Given the description of an element on the screen output the (x, y) to click on. 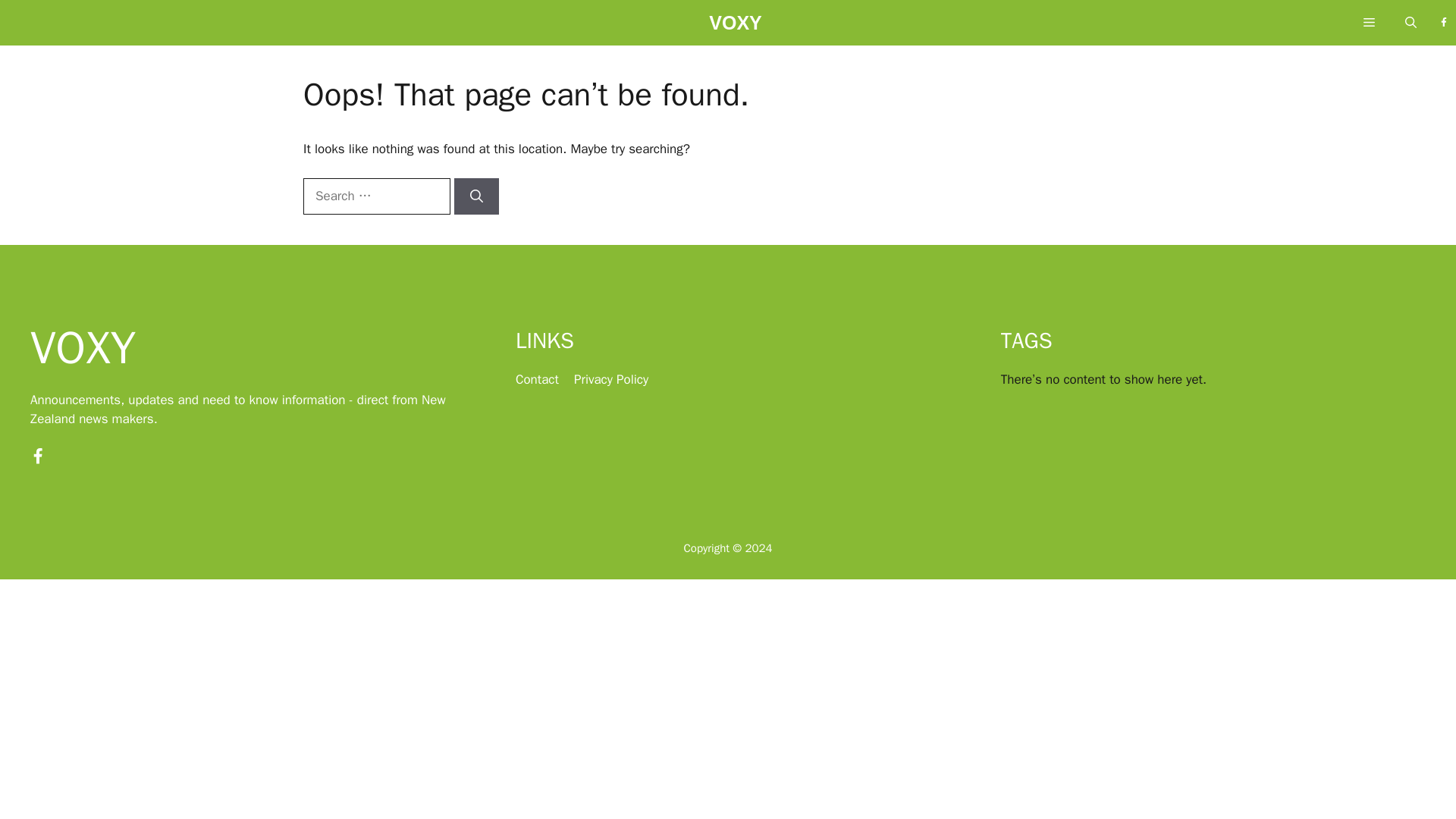
VOXY (735, 26)
Privacy Policy (610, 379)
Contact (537, 379)
Search for: (375, 196)
